Given the description of an element on the screen output the (x, y) to click on. 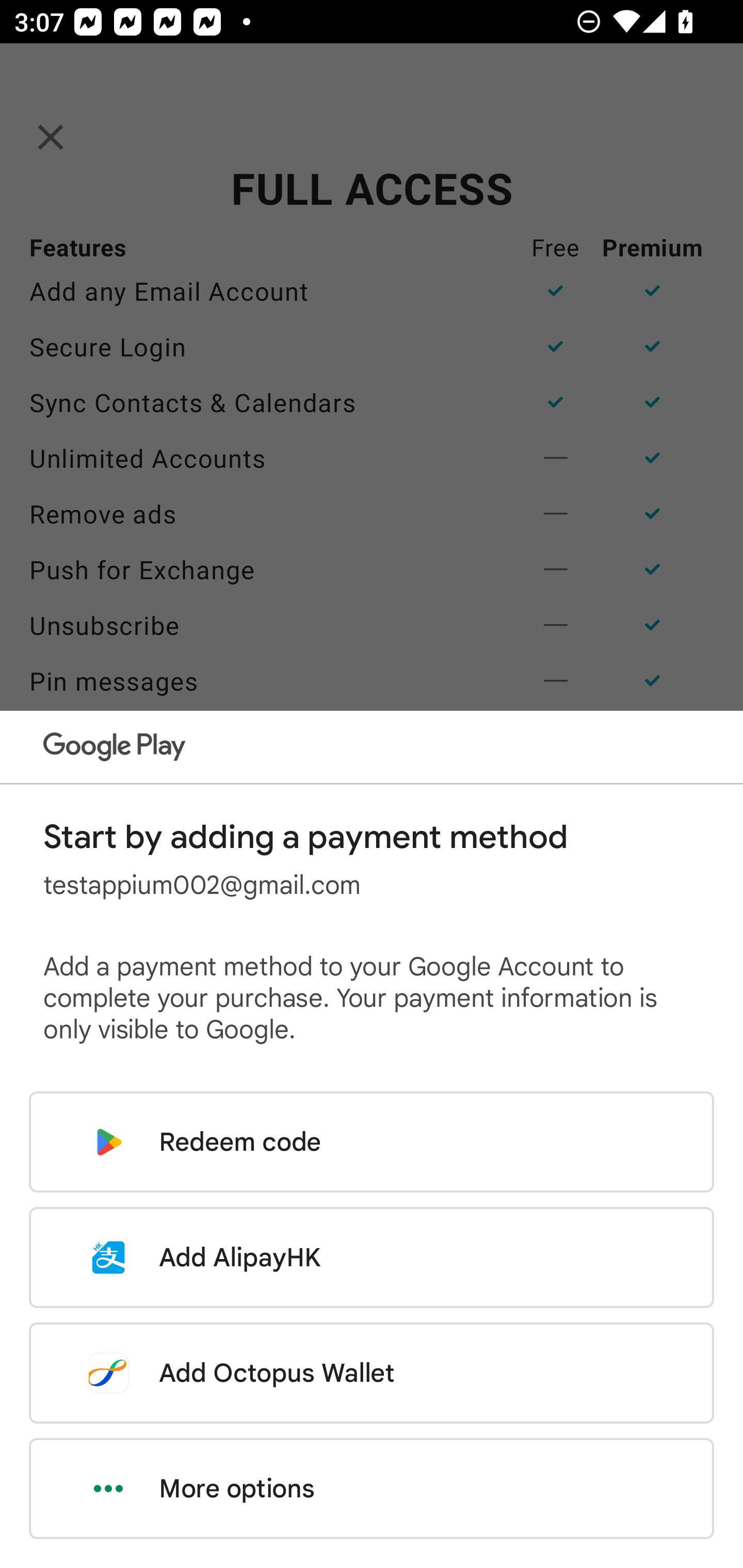
Redeem code (371, 1142)
Add AlipayHK (371, 1257)
Add Octopus Wallet (371, 1372)
More options (371, 1488)
